Given the description of an element on the screen output the (x, y) to click on. 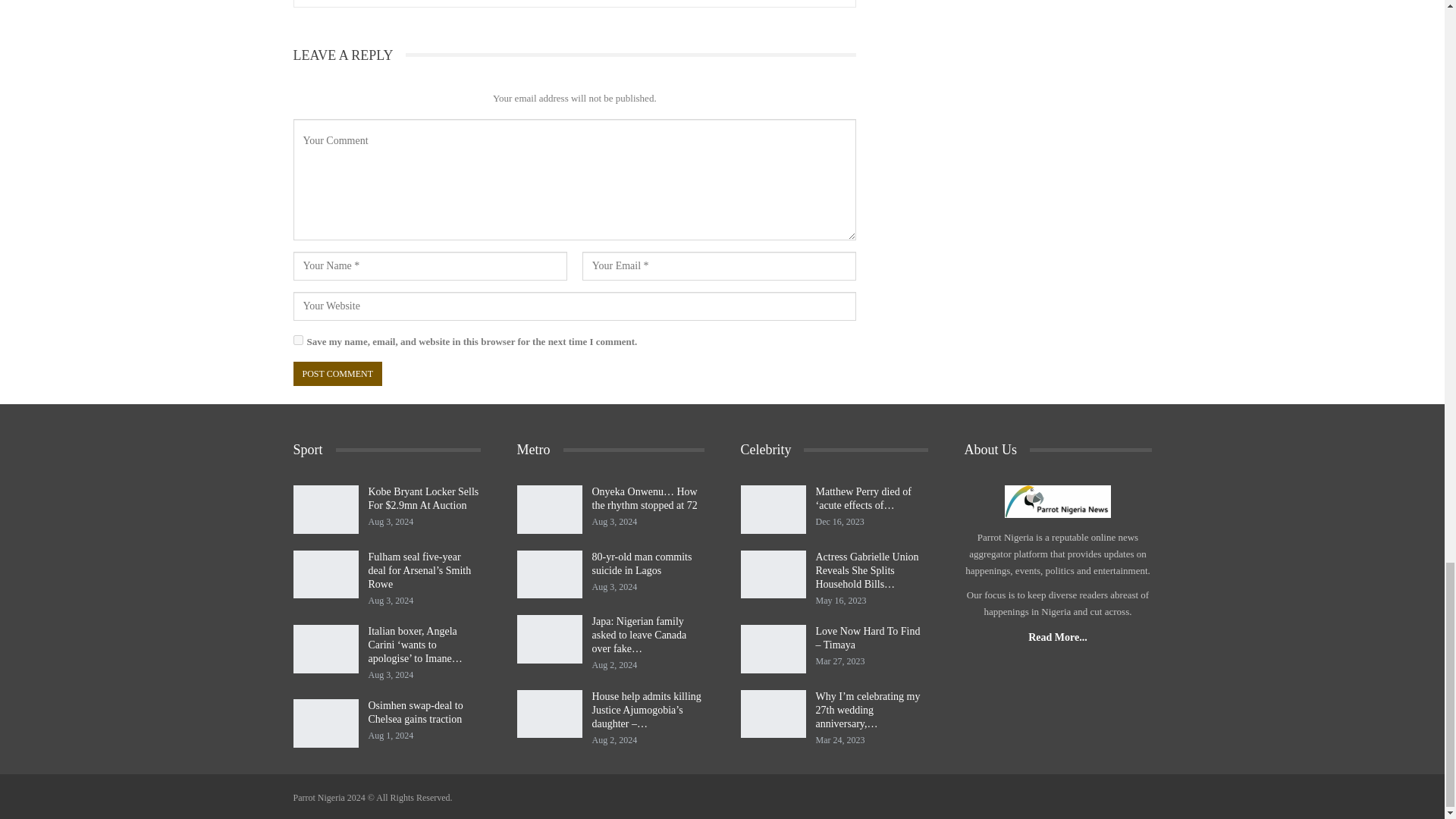
yes (297, 339)
Post Comment (336, 373)
